Given the description of an element on the screen output the (x, y) to click on. 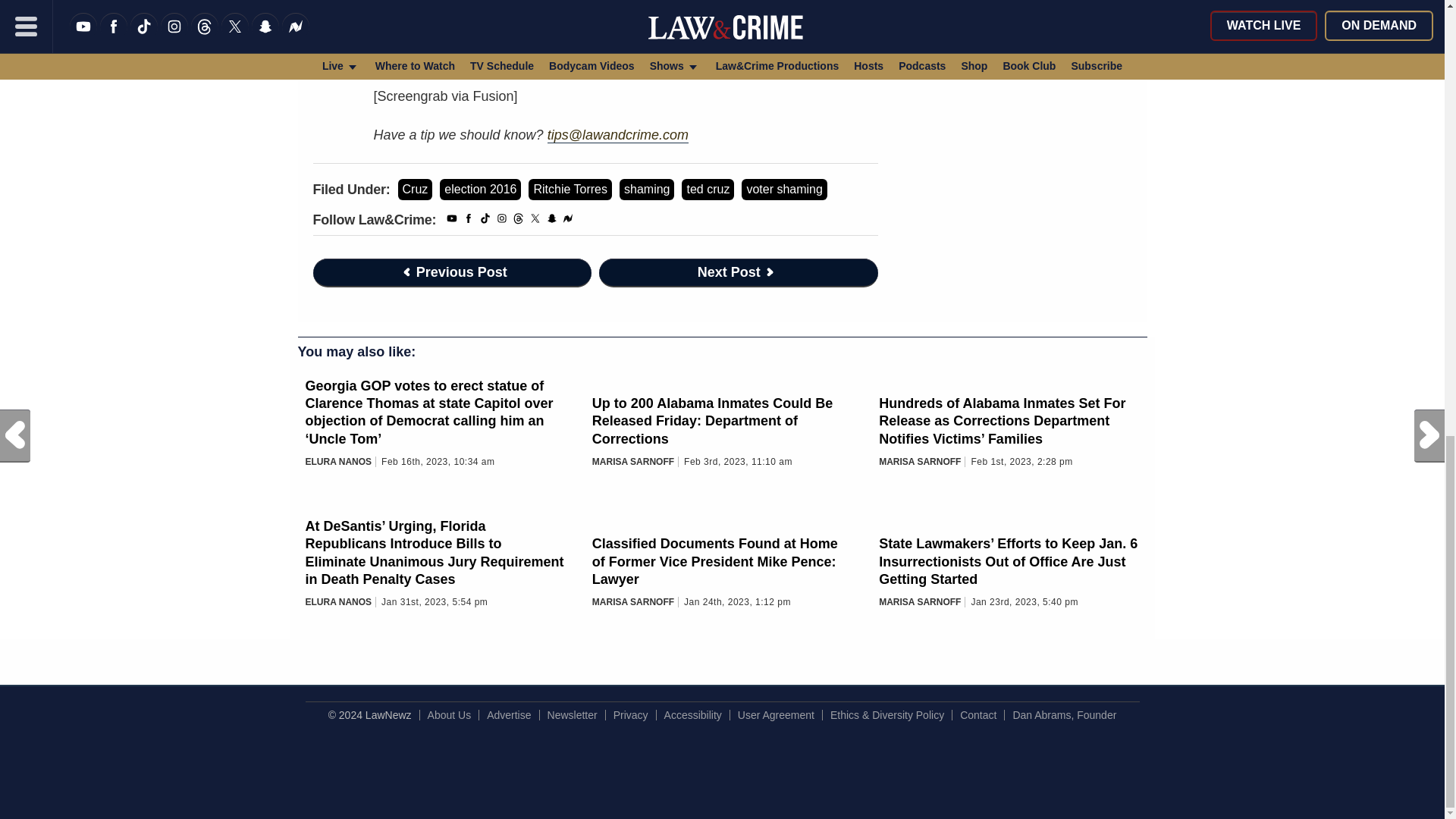
YouTube (451, 220)
